Given the description of an element on the screen output the (x, y) to click on. 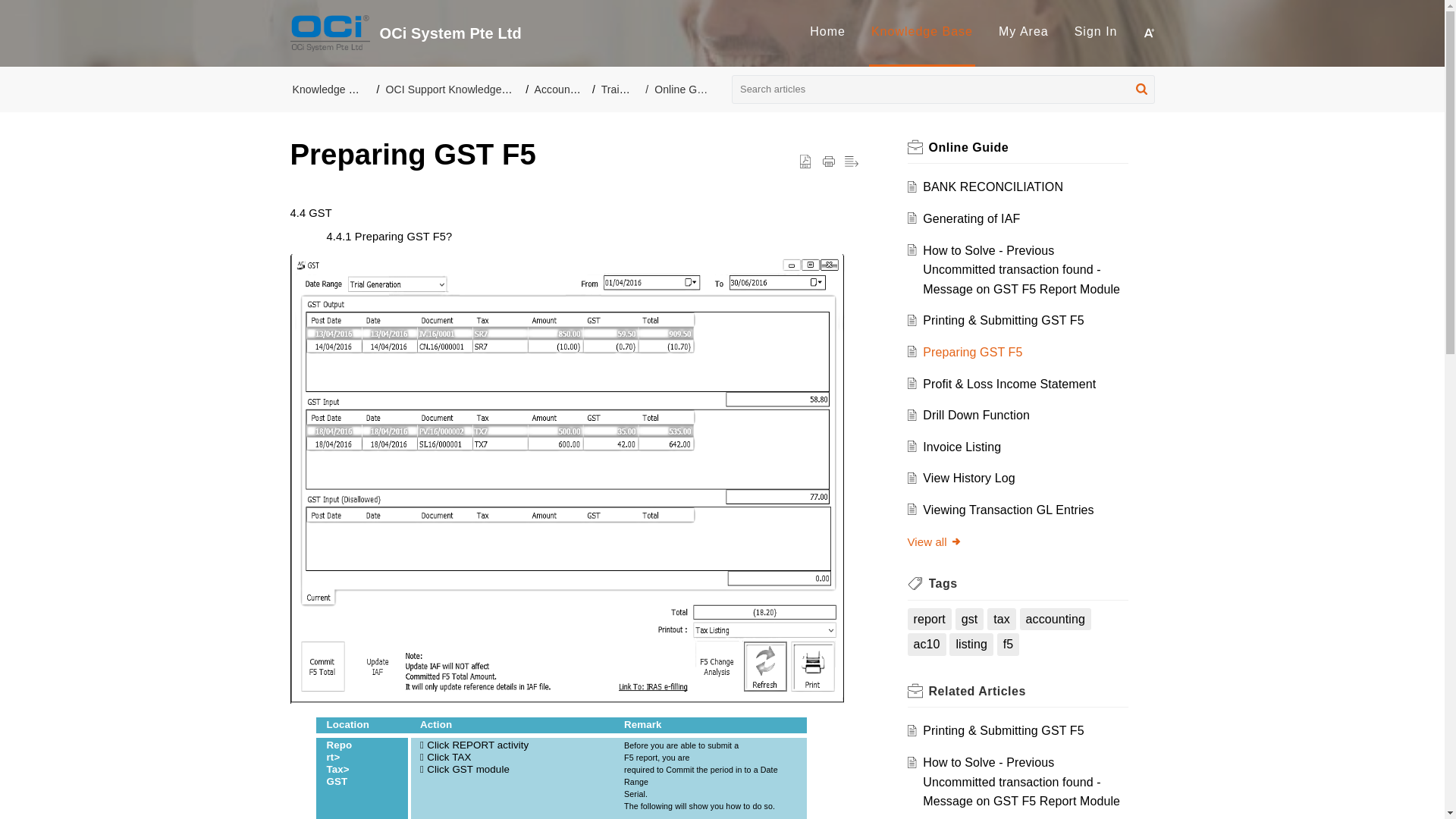
Generating of IAF (971, 218)
Sign In (1096, 31)
Preparing GST F5 (972, 351)
Preparing GST F5 (972, 351)
My Area (1023, 31)
OCi System Pte Ltd (587, 33)
Knowledge Base (921, 31)
OCI Support Knowledge Base (457, 89)
